Given the description of an element on the screen output the (x, y) to click on. 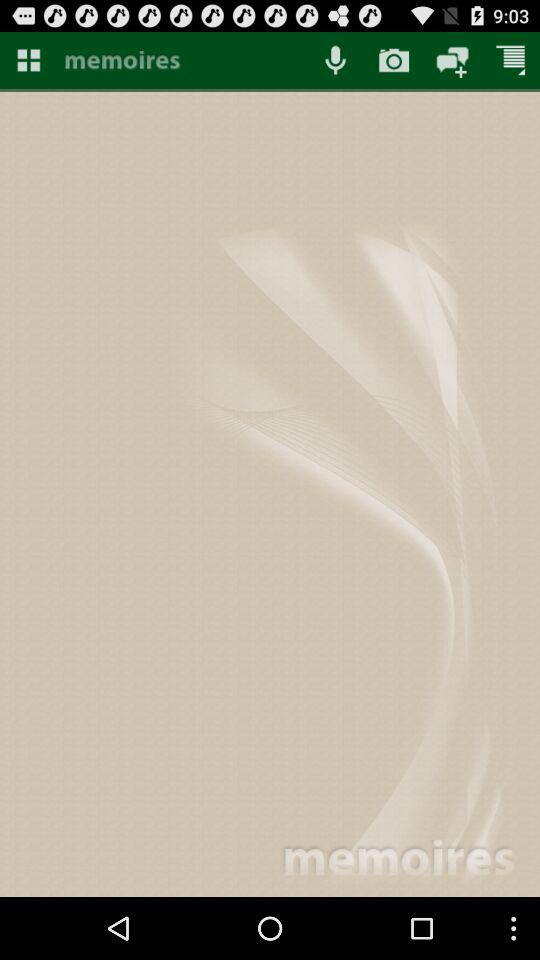
albums (28, 60)
